Given the description of an element on the screen output the (x, y) to click on. 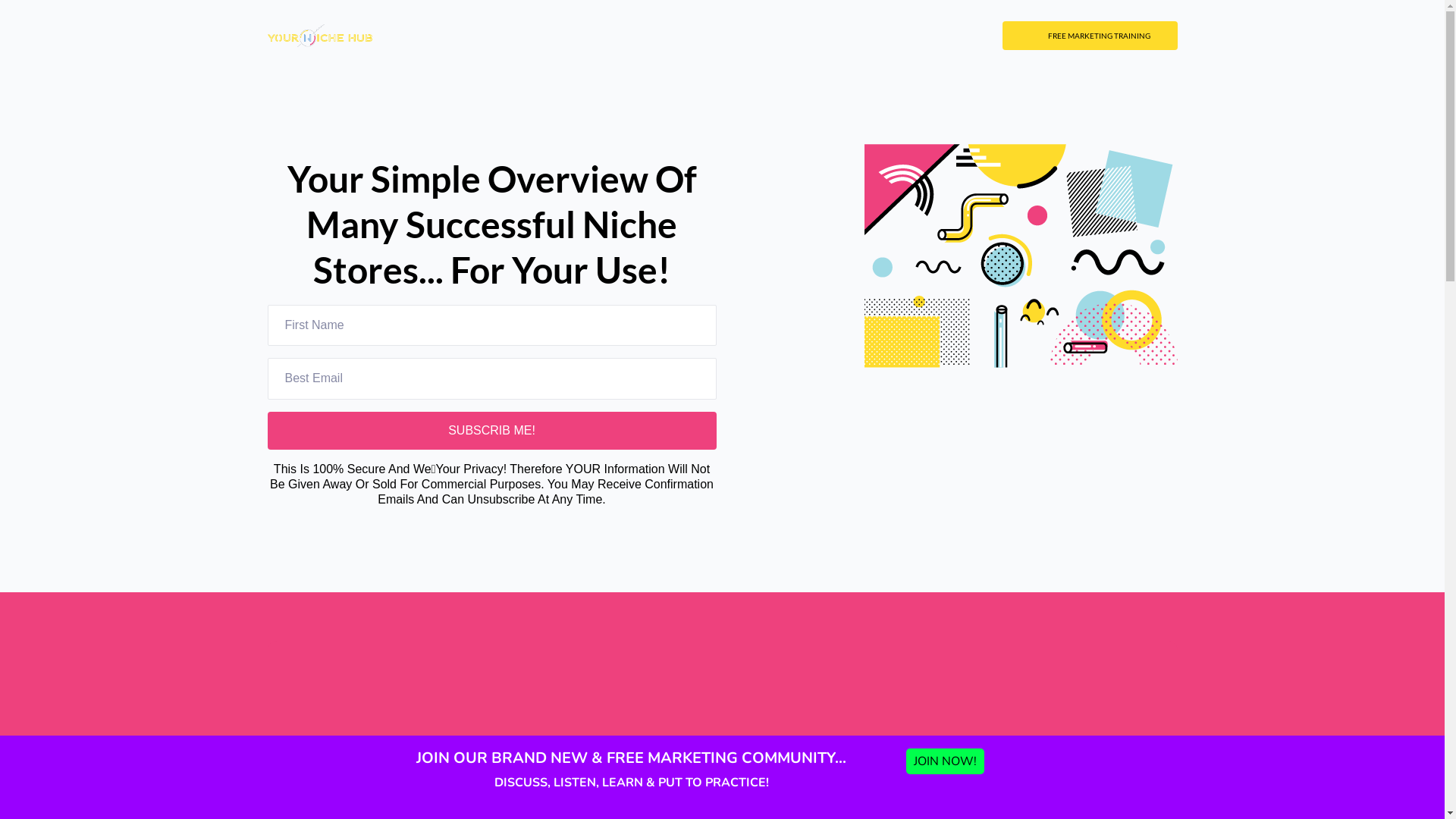
JOIN NOW! Element type: text (944, 761)
FREE MARKETING TRAINING Element type: text (1089, 35)
SUBSCRIB ME! Element type: text (490, 430)
